Given the description of an element on the screen output the (x, y) to click on. 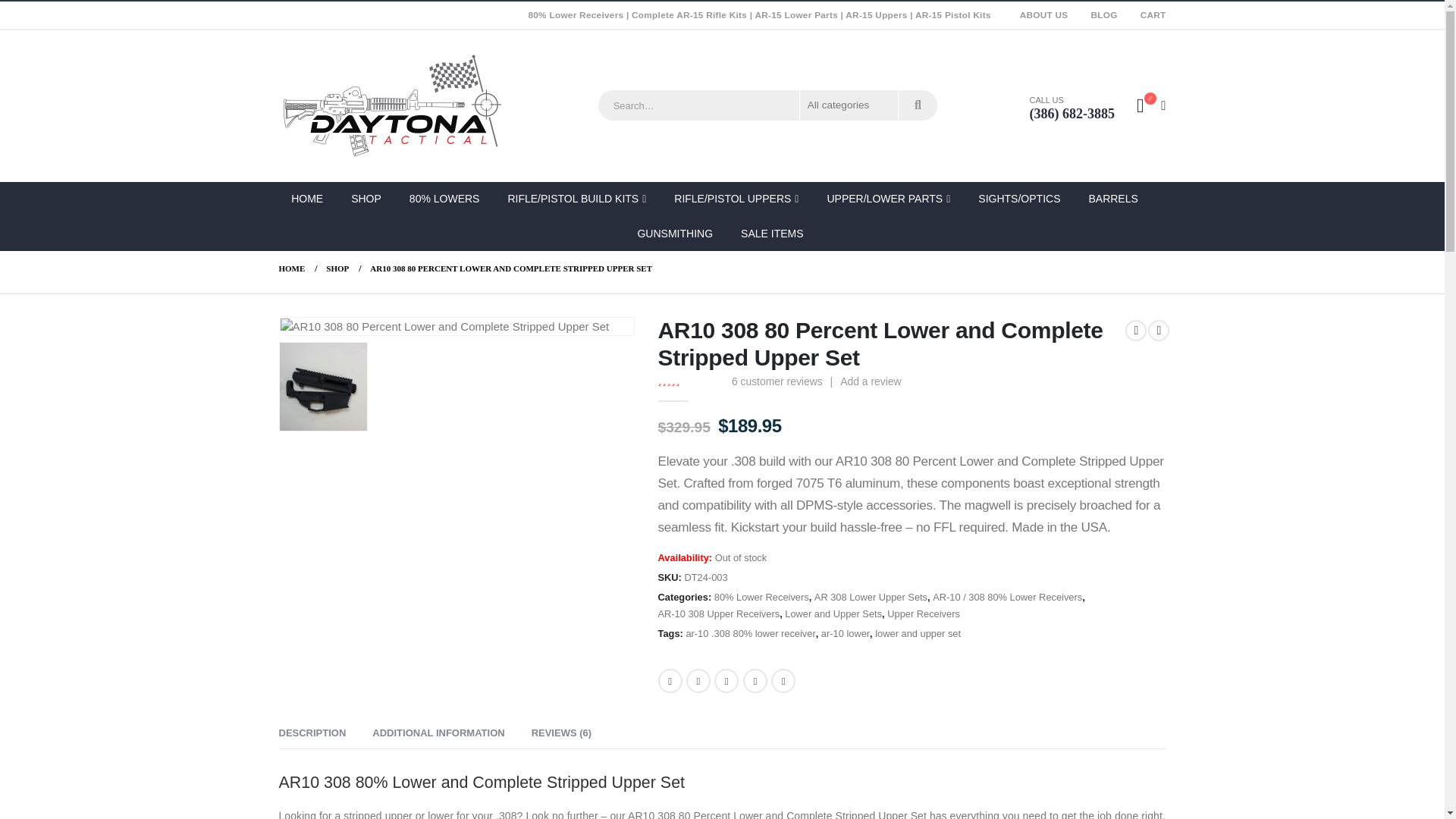
CART (1147, 14)
SHOP (337, 268)
SHOP (367, 198)
BARRELS (1115, 198)
Search (917, 105)
GUNSMITHING (677, 233)
BLOG (1103, 14)
SALE ITEMS (773, 233)
HOME (292, 268)
